Given the description of an element on the screen output the (x, y) to click on. 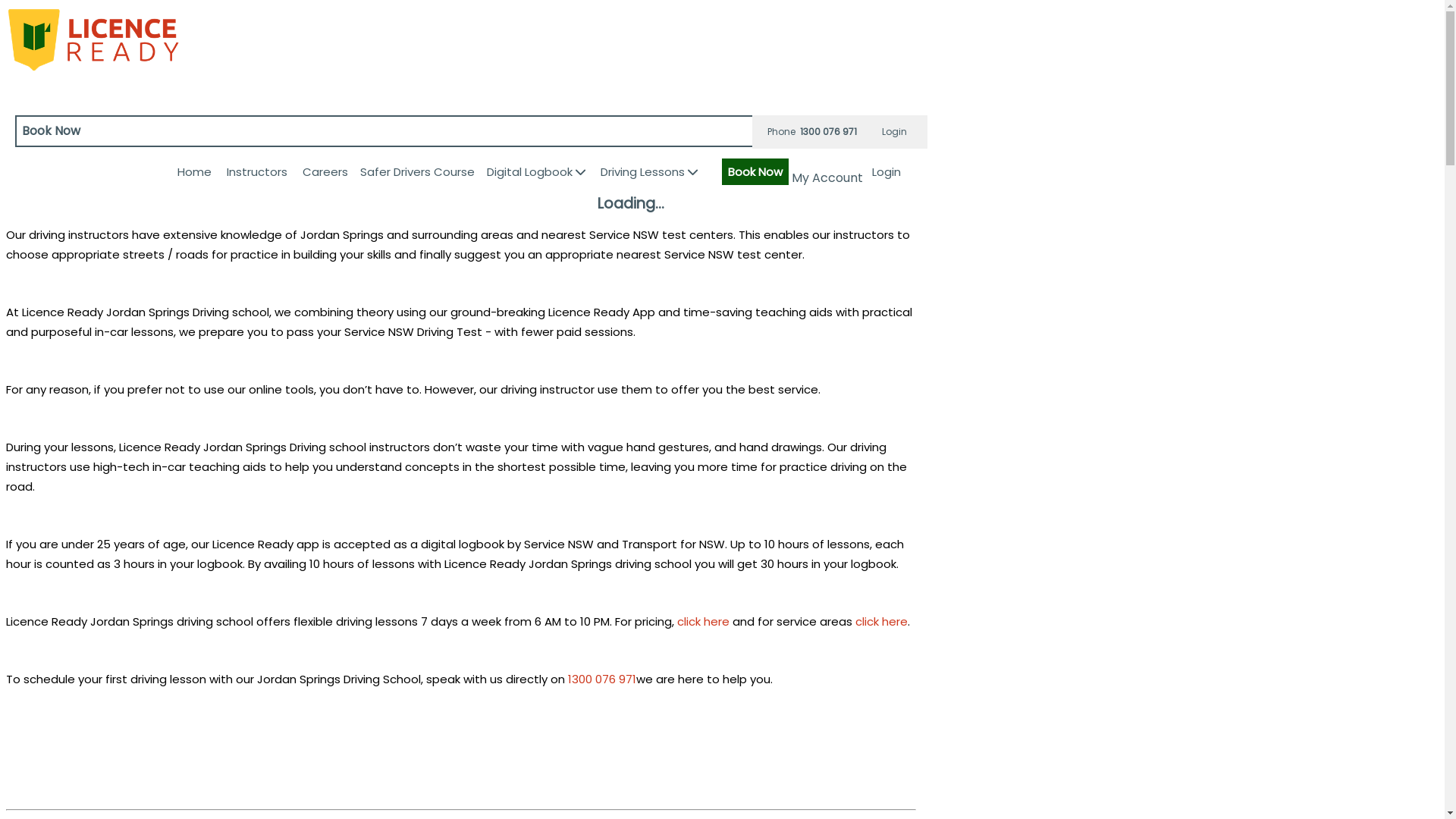
Phone  1300 076 971 Element type: text (811, 131)
Home Element type: text (194, 171)
Login Element type: text (893, 131)
1300 076 971 Element type: text (601, 679)
Careers Element type: text (325, 171)
Safer Drivers Course Element type: text (417, 171)
click here Element type: text (703, 621)
Digital Logbook Element type: text (535, 171)
click here Element type: text (881, 621)
Book Now Element type: text (463, 131)
Login Element type: text (886, 171)
Book Now Element type: text (754, 171)
Driving Lessons Element type: text (648, 171)
Instructors Element type: text (256, 171)
